Given the description of an element on the screen output the (x, y) to click on. 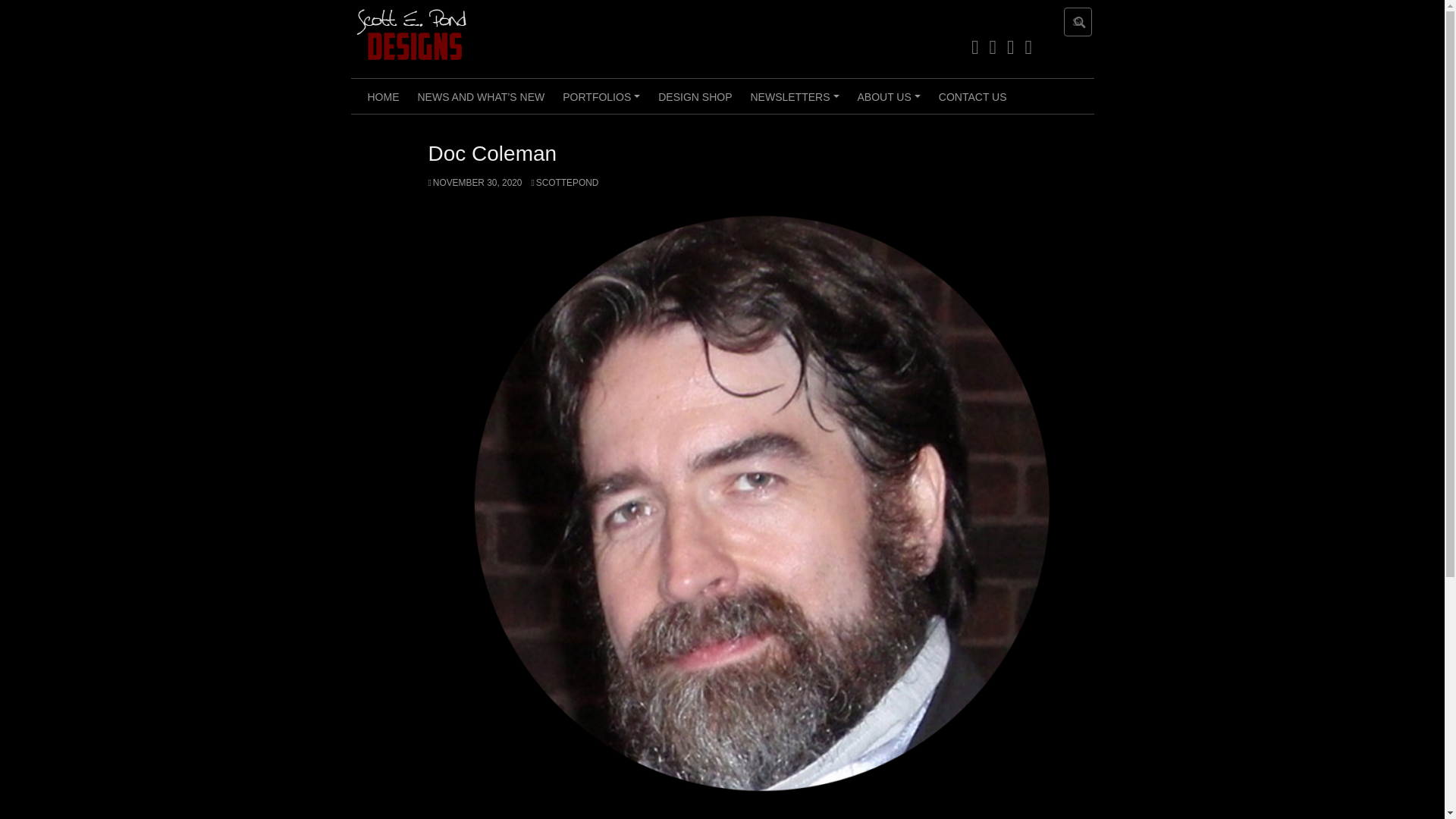
CONTACT US (973, 95)
DESIGN SHOP (695, 95)
Search for: (1078, 21)
SCOTTEPOND (564, 182)
NOVEMBER 30, 2020 (474, 182)
HOME (382, 95)
